Given the description of an element on the screen output the (x, y) to click on. 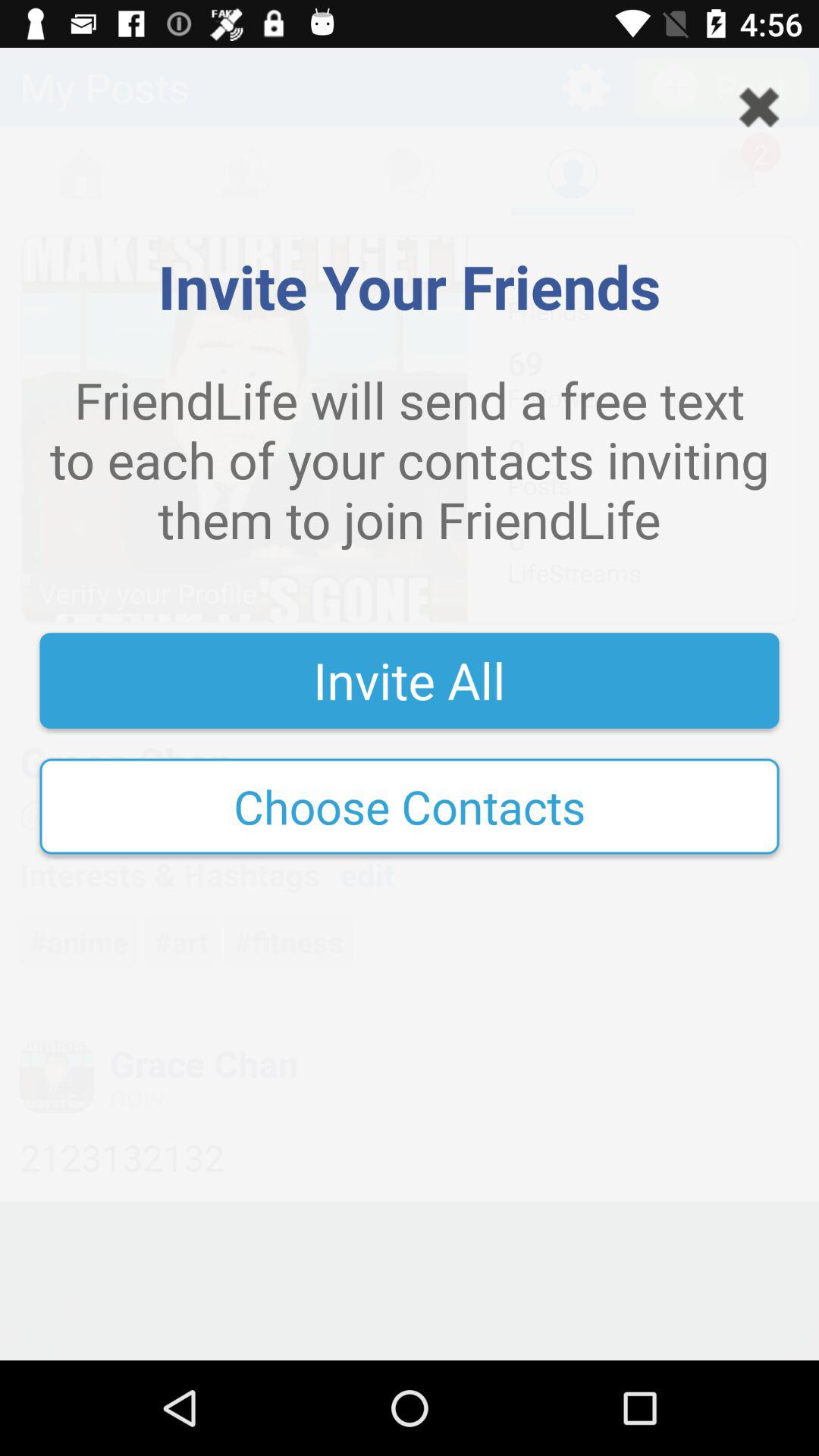
close (759, 107)
